Given the description of an element on the screen output the (x, y) to click on. 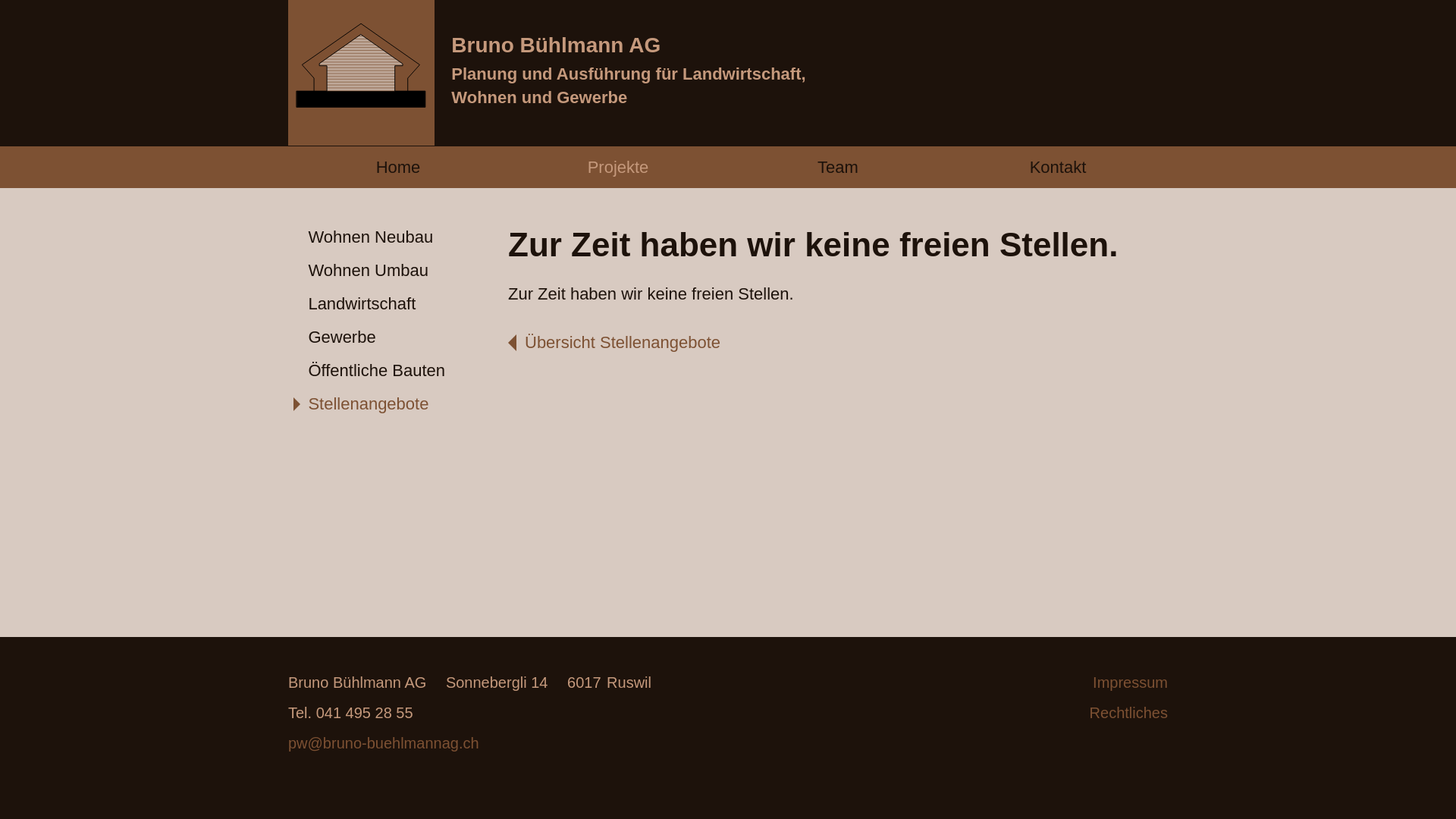
Impressum Element type: text (1057, 682)
Team Element type: text (837, 167)
Projekte Element type: text (618, 167)
Stellenangebote Element type: text (398, 404)
Rechtliches Element type: text (1057, 712)
Wohnen Umbau Element type: text (398, 271)
041 495 28 55 Element type: text (350, 712)
pw@bruno-buehlmannag.ch Element type: text (383, 742)
Wohnen Neubau Element type: text (398, 237)
Landwirtschaft Element type: text (398, 304)
Home Element type: text (398, 167)
Gewerbe Element type: text (398, 337)
Kontakt Element type: text (1057, 167)
